Given the description of an element on the screen output the (x, y) to click on. 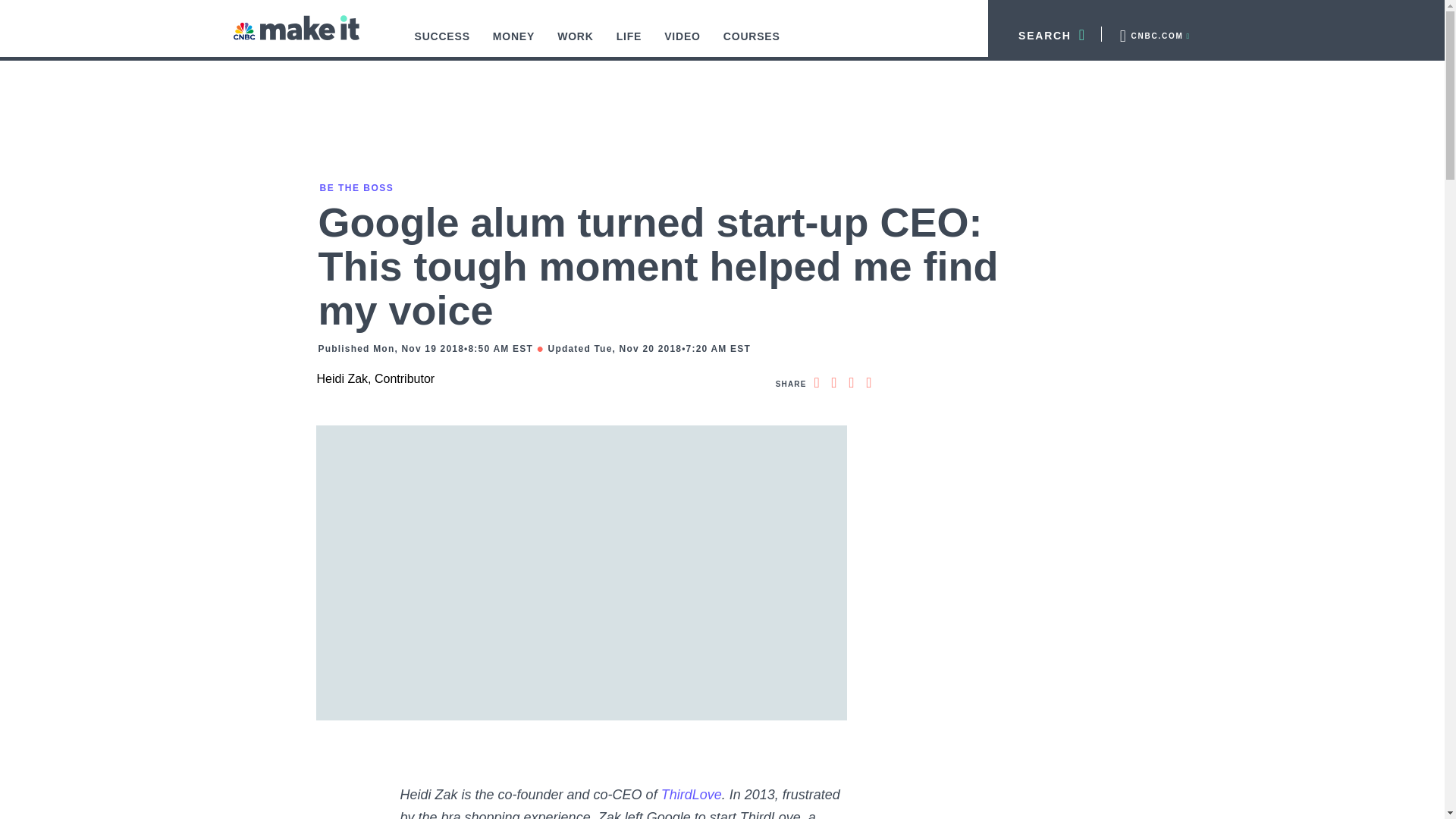
CNBC.COM (1153, 33)
SUCCESS (442, 44)
ThirdLove (691, 794)
MONEY (513, 44)
Share Article via LinkedIn (851, 382)
SEARCH (1045, 33)
LIFE (629, 44)
WORK (575, 44)
Share Article via Email (868, 382)
BE THE BOSS (355, 187)
